Given the description of an element on the screen output the (x, y) to click on. 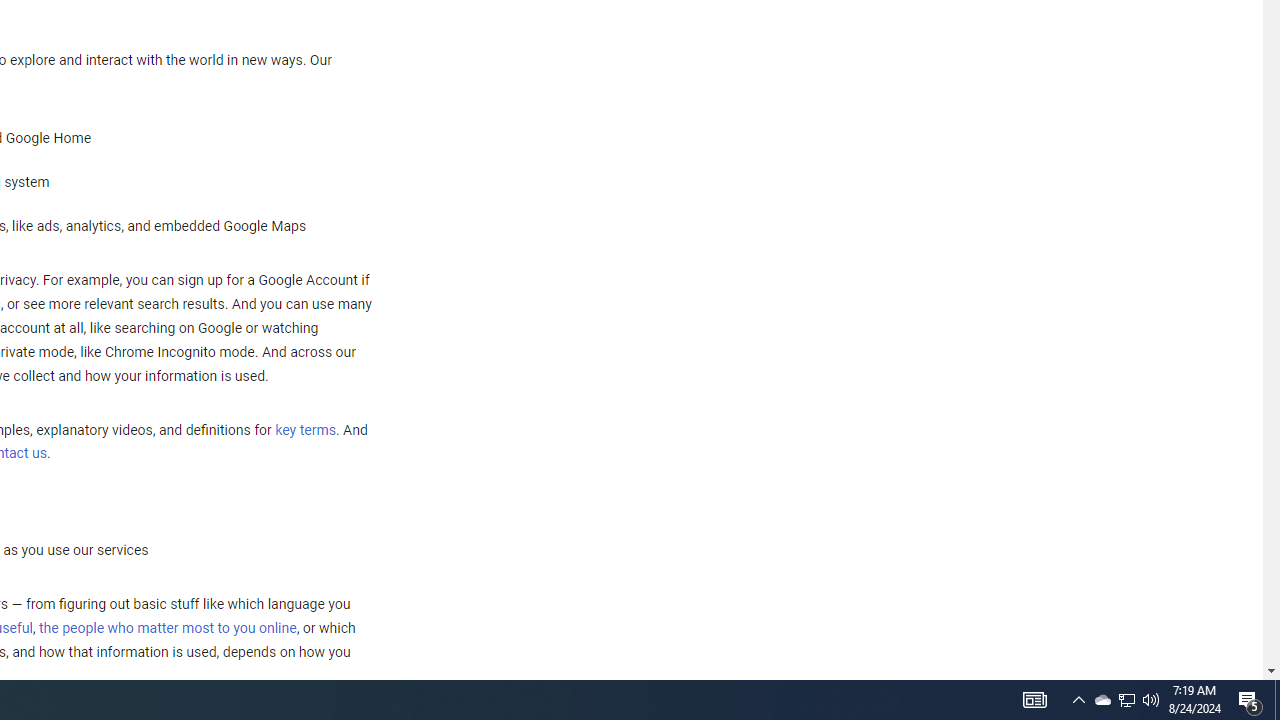
key terms (305, 430)
the people who matter most to you online (167, 628)
